Given the description of an element on the screen output the (x, y) to click on. 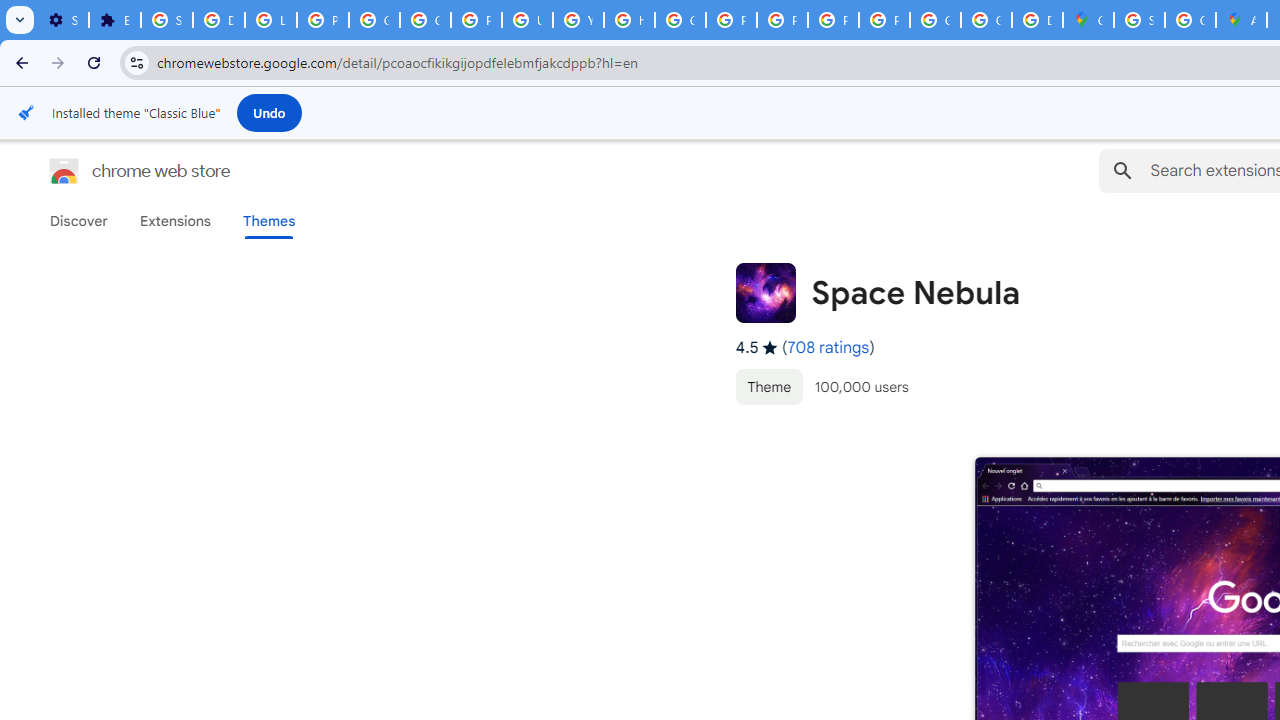
Google Account Help (424, 20)
YouTube (578, 20)
Privacy Help Center - Policies Help (731, 20)
708 ratings (828, 347)
Google Account Help (374, 20)
Sign in - Google Accounts (166, 20)
Delete photos & videos - Computer - Google Photos Help (218, 20)
Item logo image for Space Nebula (765, 292)
Discover (79, 221)
